Given the description of an element on the screen output the (x, y) to click on. 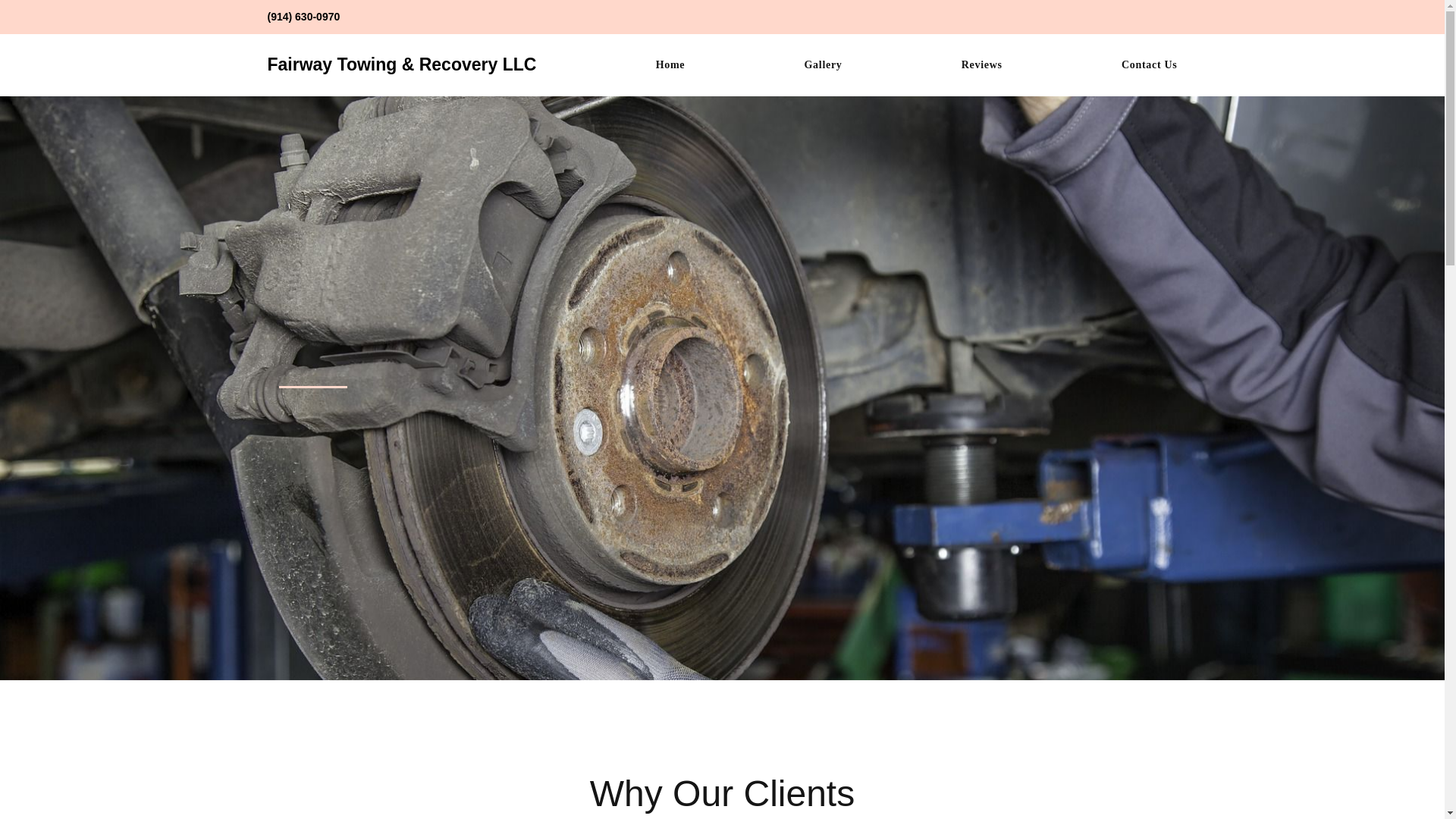
Contact Us (1149, 65)
Home (670, 65)
Reviews (981, 65)
Gallery (824, 65)
